Given the description of an element on the screen output the (x, y) to click on. 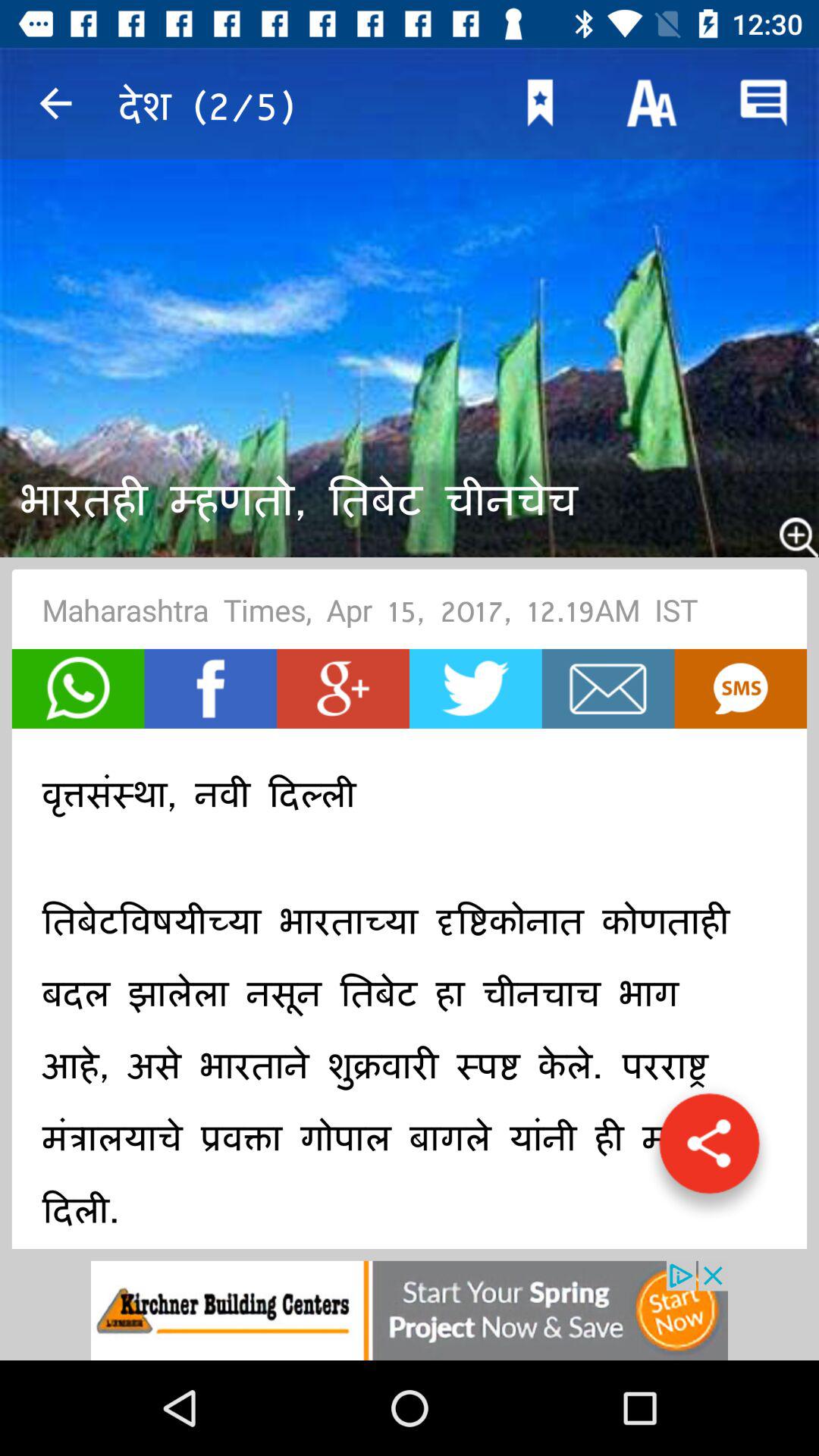
share (709, 1151)
